Given the description of an element on the screen output the (x, y) to click on. 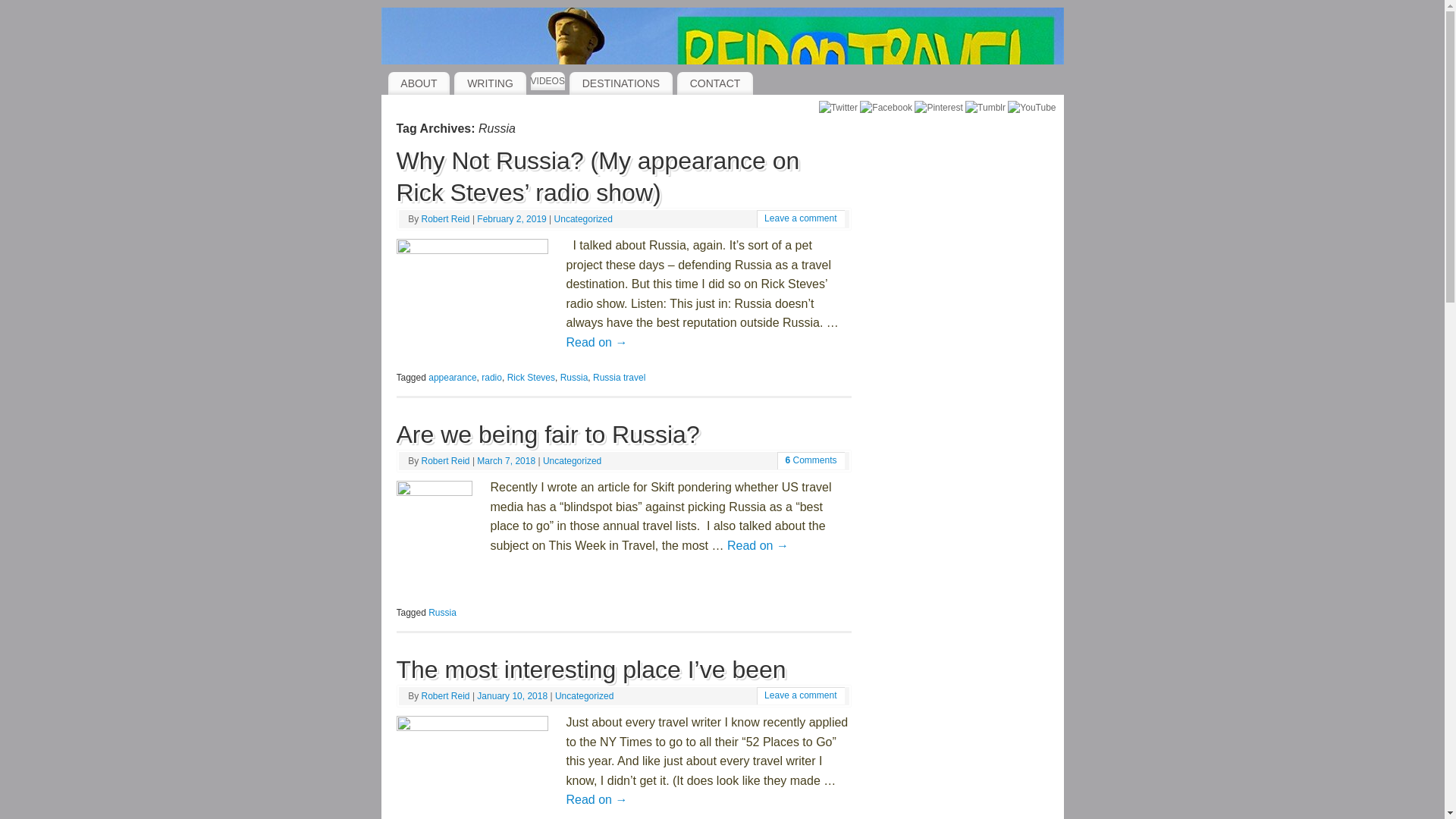
Russia (442, 612)
View all posts by Robert Reid (446, 696)
ABOUT (418, 83)
Robert Reid (446, 218)
Leave a comment (799, 217)
Permalink to Are we being fair to Russia? (547, 433)
Russia (574, 377)
January 10, 2018 (513, 696)
Russia travel (618, 377)
radio (491, 377)
